Given the description of an element on the screen output the (x, y) to click on. 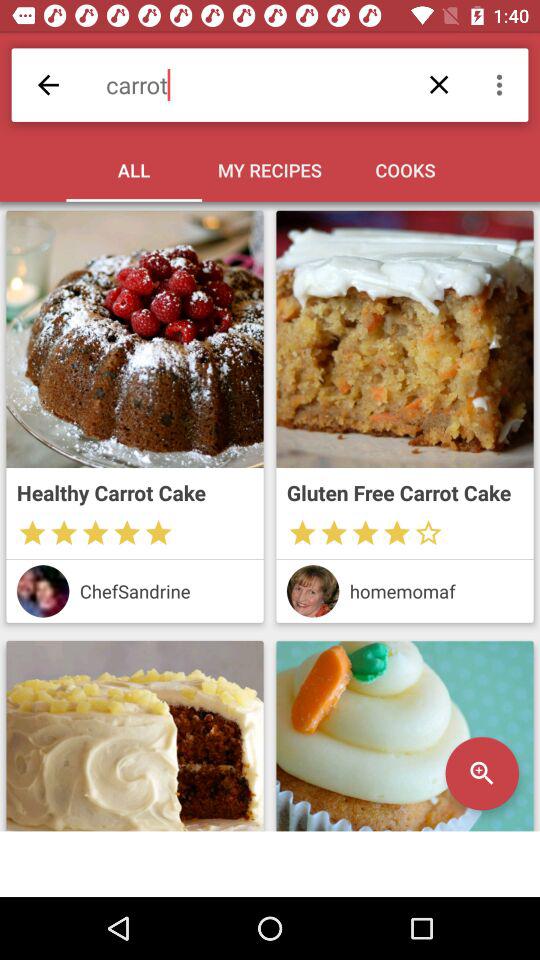
select homemomaf item (436, 590)
